Given the description of an element on the screen output the (x, y) to click on. 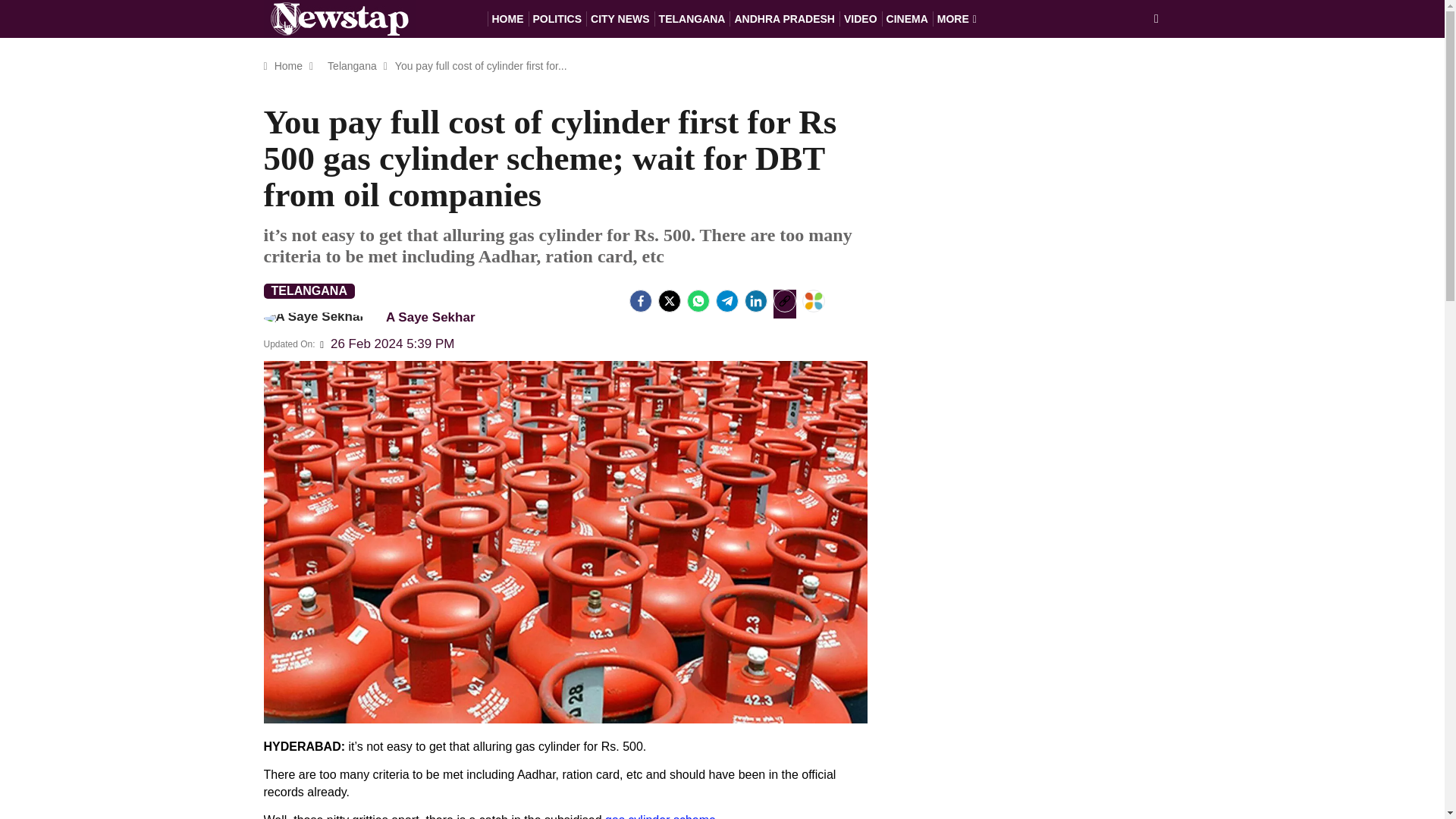
TELANGANA (309, 290)
VIDEO (861, 18)
CINEMA (907, 18)
Telangana (352, 65)
LinkedIn (755, 300)
A Saye Sekhar (314, 318)
A Saye Sekhar (376, 317)
TELANGANA (691, 18)
Home (287, 65)
POLITICS (556, 18)
